Given the description of an element on the screen output the (x, y) to click on. 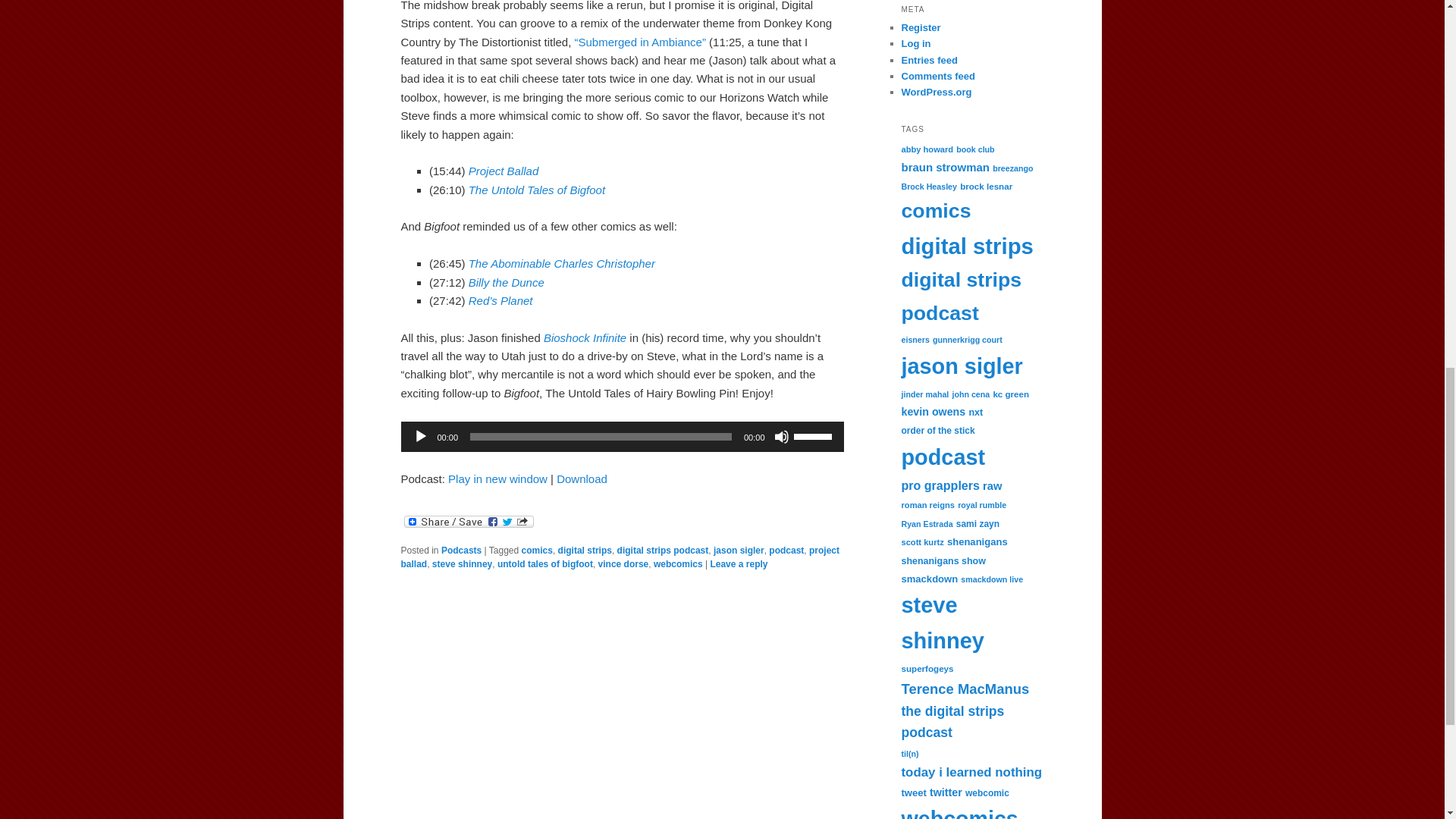
digital strips podcast (663, 550)
Podcasts (461, 550)
podcast (785, 550)
digital strips (584, 550)
Play in new window (497, 477)
Billy the Dunce (506, 282)
comics (537, 550)
The Untold Tales of Bigfoot (536, 189)
Play (420, 436)
Download (581, 477)
Bioshock Infinite (584, 337)
jason sigler (738, 550)
Download (581, 477)
Play in new window (497, 477)
Mute (781, 436)
